Given the description of an element on the screen output the (x, y) to click on. 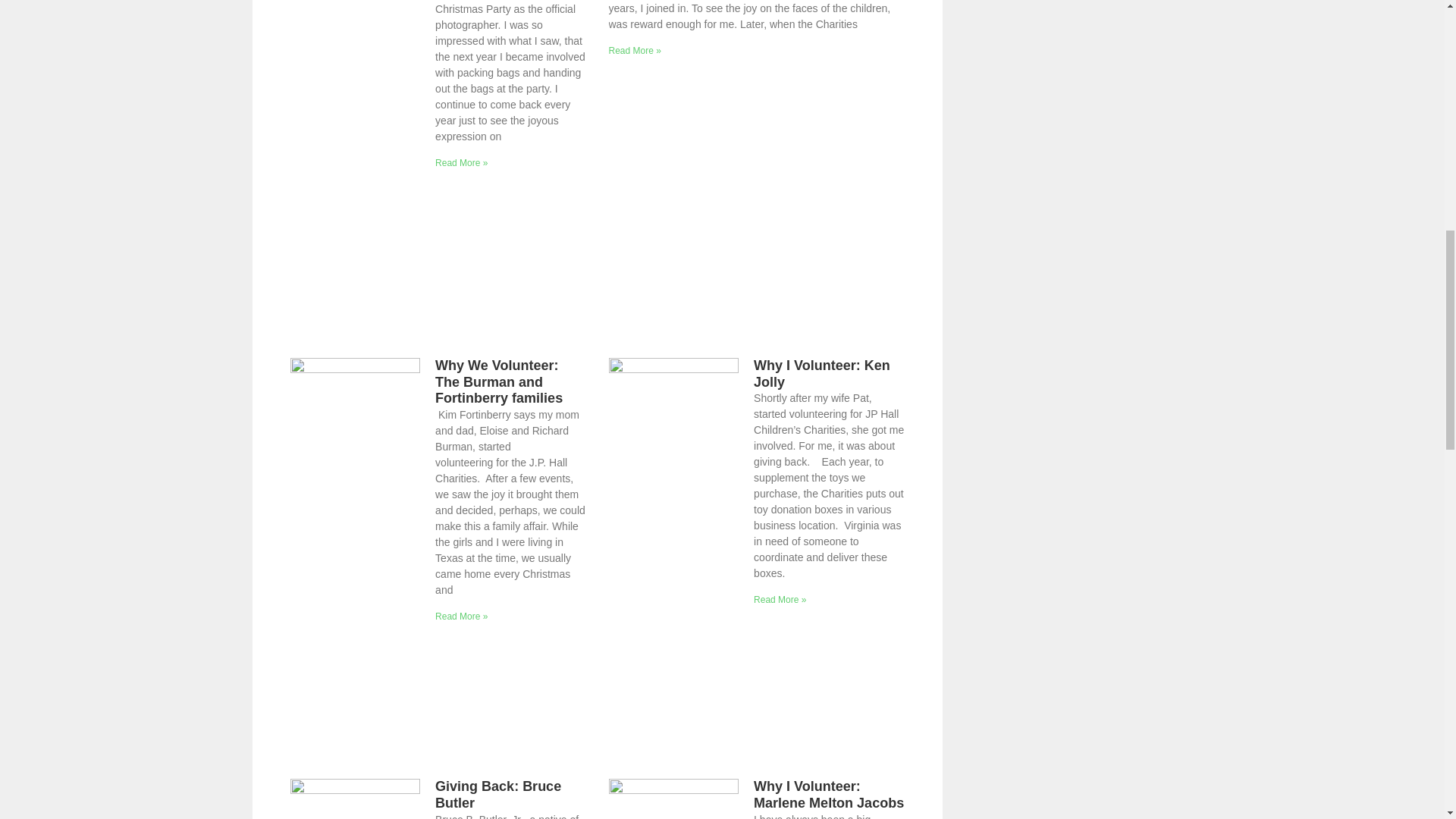
Giving Back: Bruce Butler (497, 794)
Why We Volunteer: The Burman and Fortinberry families (498, 381)
Why I Volunteer: Ken Jolly (821, 373)
Why I Volunteer: Marlene Melton Jacobs (829, 794)
